Given the description of an element on the screen output the (x, y) to click on. 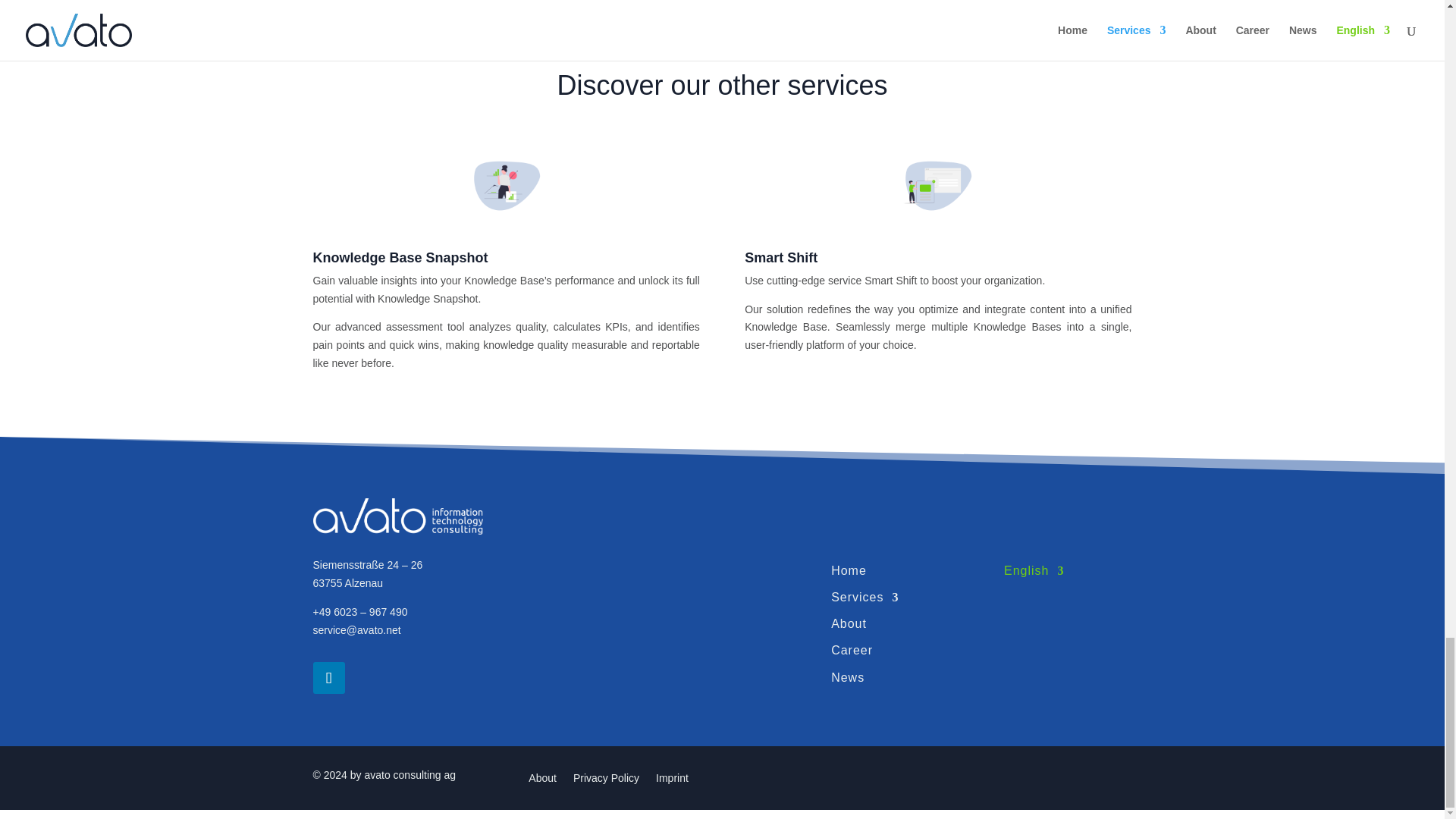
Follow on LinkedIn (328, 677)
Services (864, 599)
Contact us (470, 13)
Home (848, 573)
Knowledge Base Snapshot (400, 257)
Smart Shift (780, 257)
English (1034, 573)
